Given the description of an element on the screen output the (x, y) to click on. 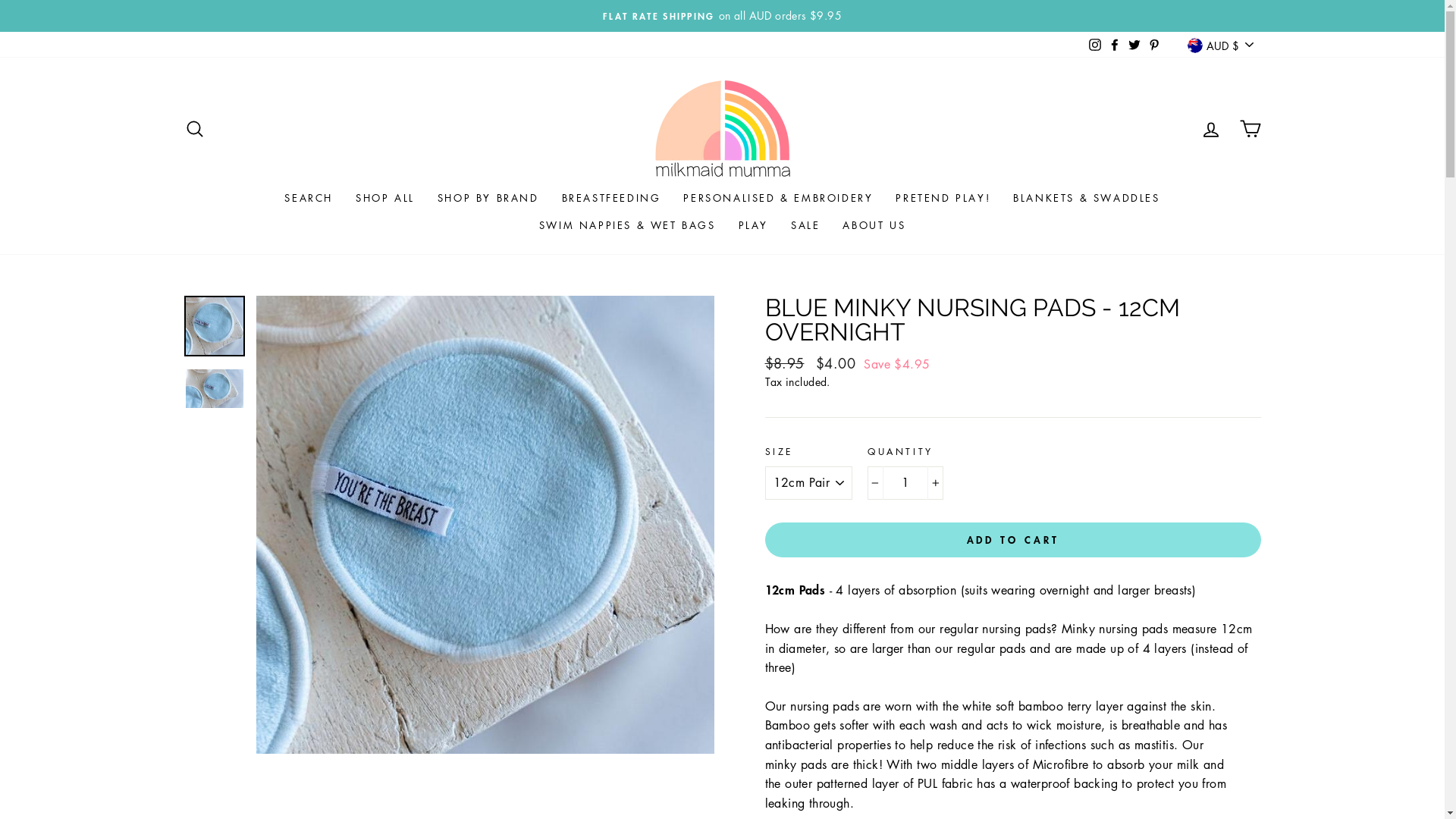
Pinterest Element type: text (1154, 44)
ADD TO CART Element type: text (1012, 539)
SALE Element type: text (805, 224)
SHOP ALL Element type: text (385, 197)
SEARCH Element type: text (308, 197)
ABOUT US Element type: text (873, 224)
AUD $ Element type: text (1220, 44)
+ Element type: text (935, 482)
Twitter Element type: text (1134, 44)
Facebook Element type: text (1114, 44)
LOG IN Element type: text (1210, 128)
PERSONALISED & EMBROIDERY Element type: text (777, 197)
PRETEND PLAY! Element type: text (942, 197)
BLANKETS & SWADDLES Element type: text (1085, 197)
Skip to content Element type: text (0, 0)
Instagram Element type: text (1094, 44)
SEARCH Element type: text (193, 128)
PLAY Element type: text (753, 224)
SWIM NAPPIES & WET BAGS Element type: text (627, 224)
CART Element type: text (1249, 128)
BREASTFEEDING Element type: text (611, 197)
SHOP BY BRAND Element type: text (488, 197)
